Given the description of an element on the screen output the (x, y) to click on. 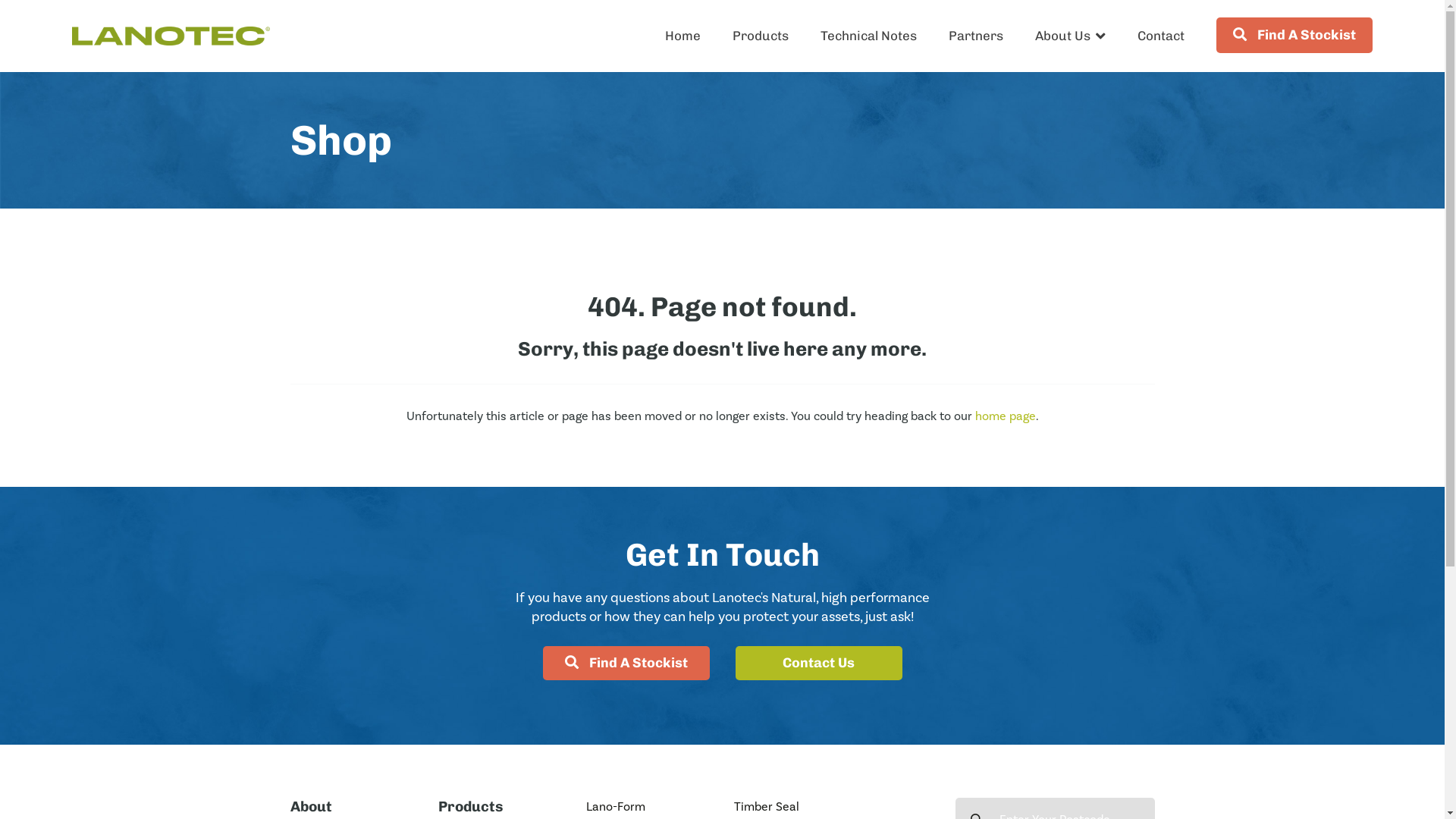
About Us Element type: text (1070, 35)
home page Element type: text (1005, 415)
GET IN TOUCH Element type: text (1239, 355)
Contact Element type: text (1160, 35)
Home Element type: text (682, 35)
Find A Stockist Element type: text (625, 663)
Partners Element type: text (975, 35)
Technical Notes Element type: text (868, 35)
Products Element type: text (760, 35)
Contact Us Element type: text (818, 663)
Timber Seal Element type: text (833, 806)
Lano-Form Element type: text (647, 806)
Find A Stockist Element type: text (1294, 35)
